Given the description of an element on the screen output the (x, y) to click on. 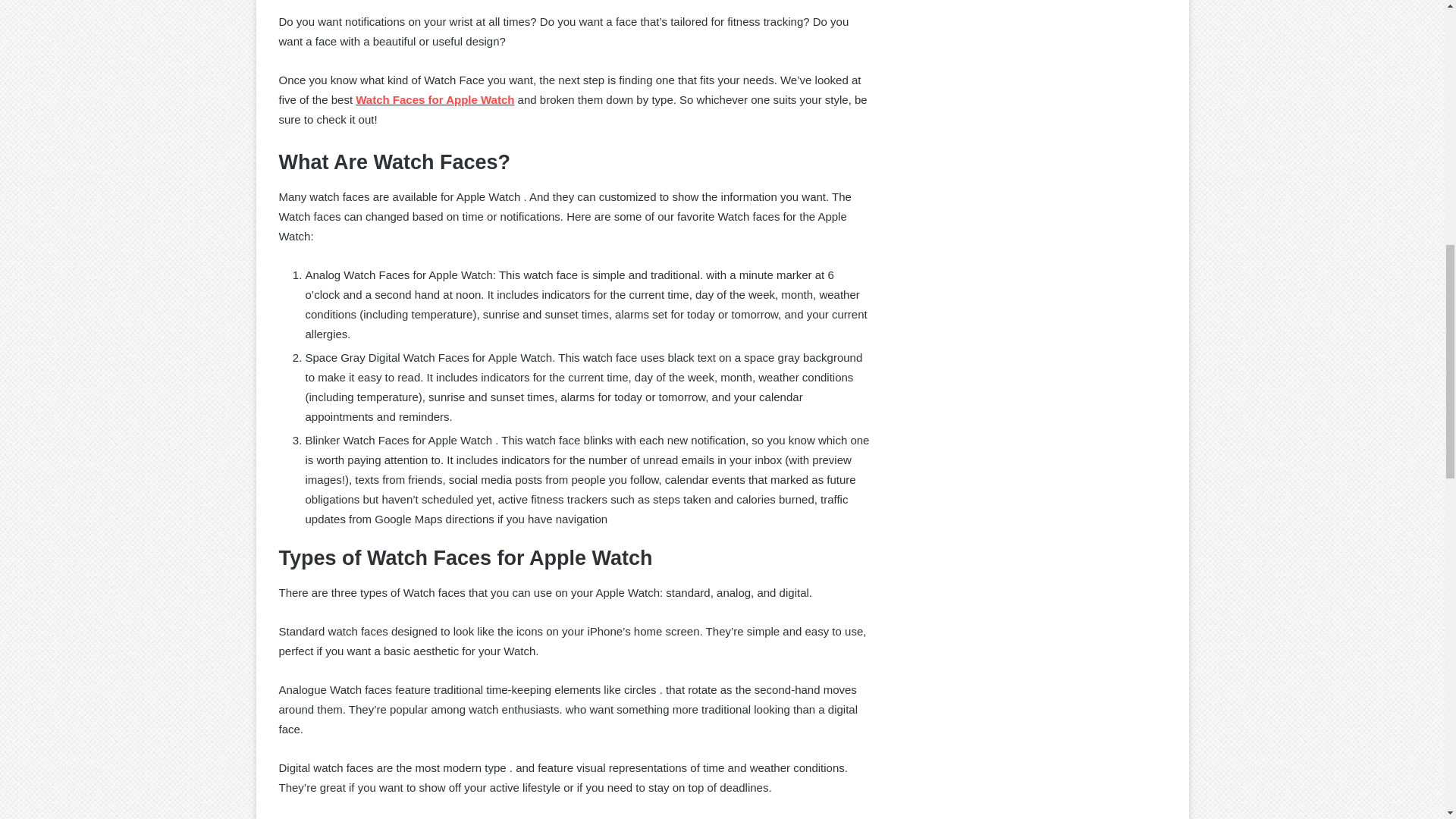
Watch Faces for Apple Watch (434, 99)
Back to top button (1419, 62)
